Given the description of an element on the screen output the (x, y) to click on. 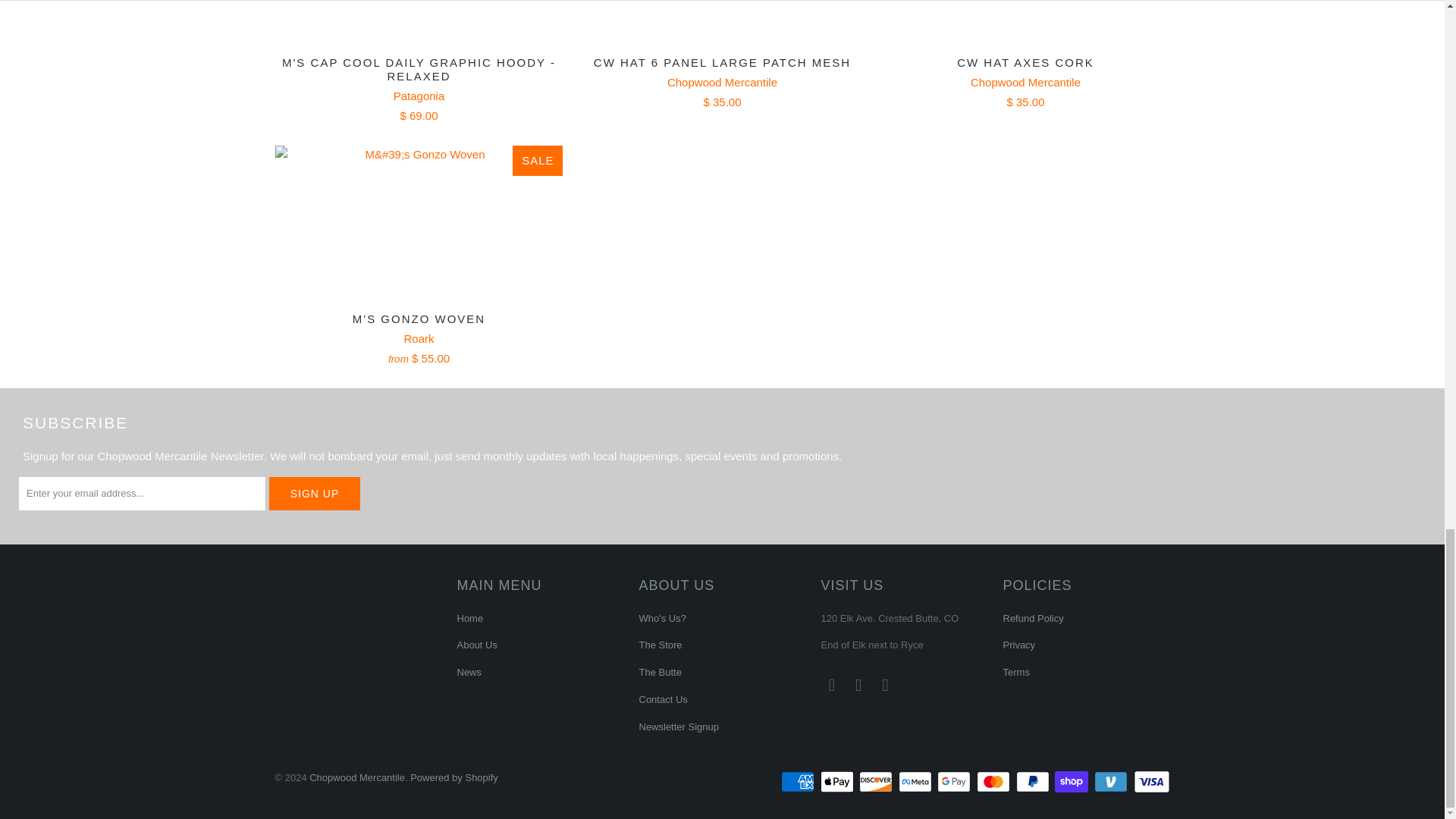
Google Pay (955, 781)
Meta Pay (916, 781)
Chopwood Mercantile (1025, 82)
Roark (418, 338)
PayPal (1034, 781)
Visa (1150, 781)
American Express (798, 781)
Mastercard (994, 781)
Chopwood Mercantile on Facebook (832, 685)
Discover (877, 781)
